Given the description of an element on the screen output the (x, y) to click on. 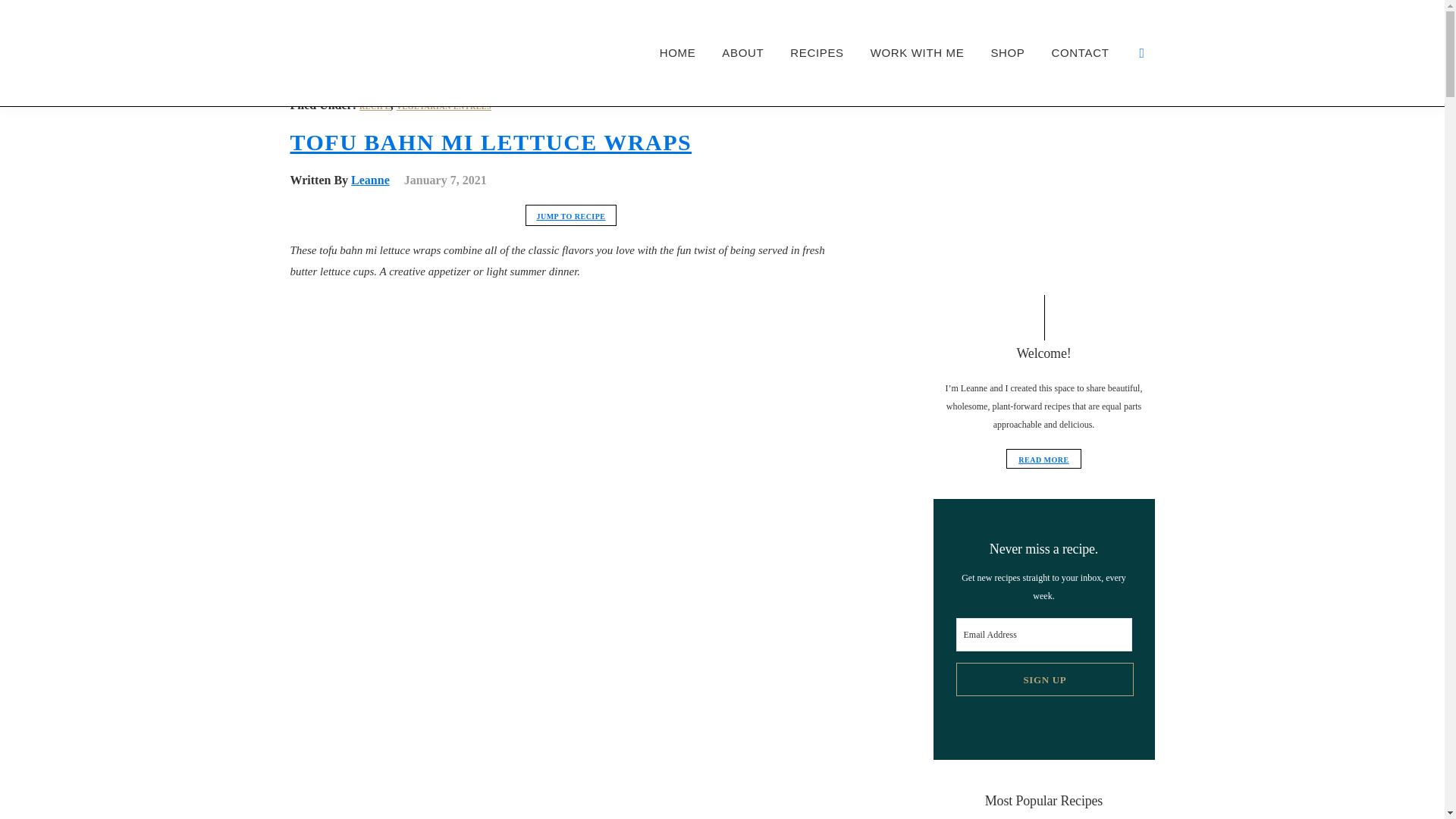
Show Search (1145, 52)
Tofu Bahn Mi Lettuce Wraps (570, 127)
JUMP TO RECIPE (570, 215)
VEGETARIAN ENTREES (444, 106)
Healthyish Appetite (327, 97)
SHOP (1006, 53)
ABOUT (742, 53)
RECIPE (374, 106)
HOME (677, 53)
Leanne (370, 179)
